Given the description of an element on the screen output the (x, y) to click on. 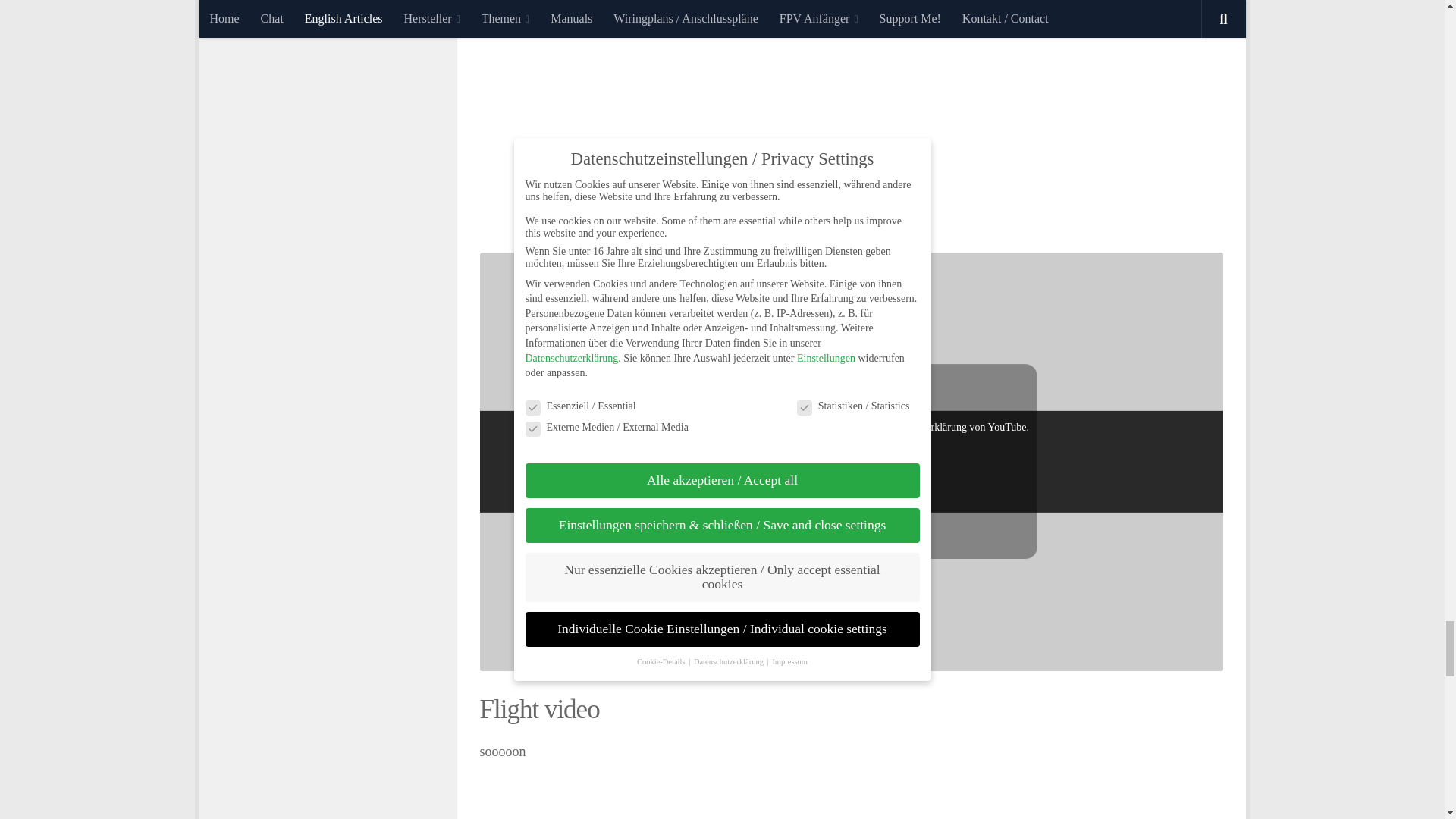
1 (798, 496)
